Given the description of an element on the screen output the (x, y) to click on. 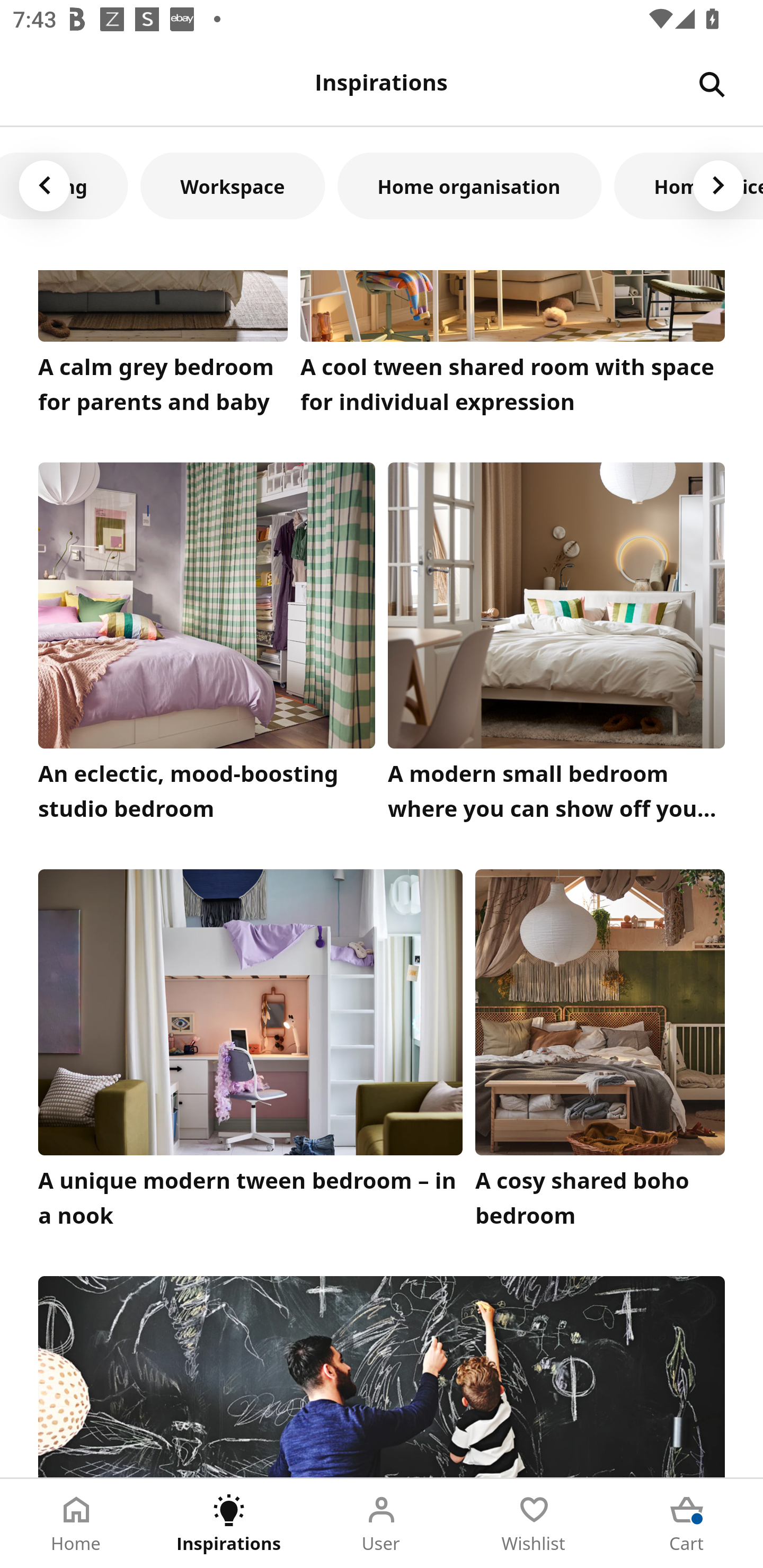
Workspace (232, 185)
Home organisation (469, 185)
An eclectic, mood-boosting studio bedroom (206, 646)
A unique modern tween bedroom – in a nook (250, 1053)
A cosy shared boho bedroom (599, 1053)
Home
Tab 1 of 5 (76, 1522)
Inspirations
Tab 2 of 5 (228, 1522)
User
Tab 3 of 5 (381, 1522)
Wishlist
Tab 4 of 5 (533, 1522)
Cart
Tab 5 of 5 (686, 1522)
